Given the description of an element on the screen output the (x, y) to click on. 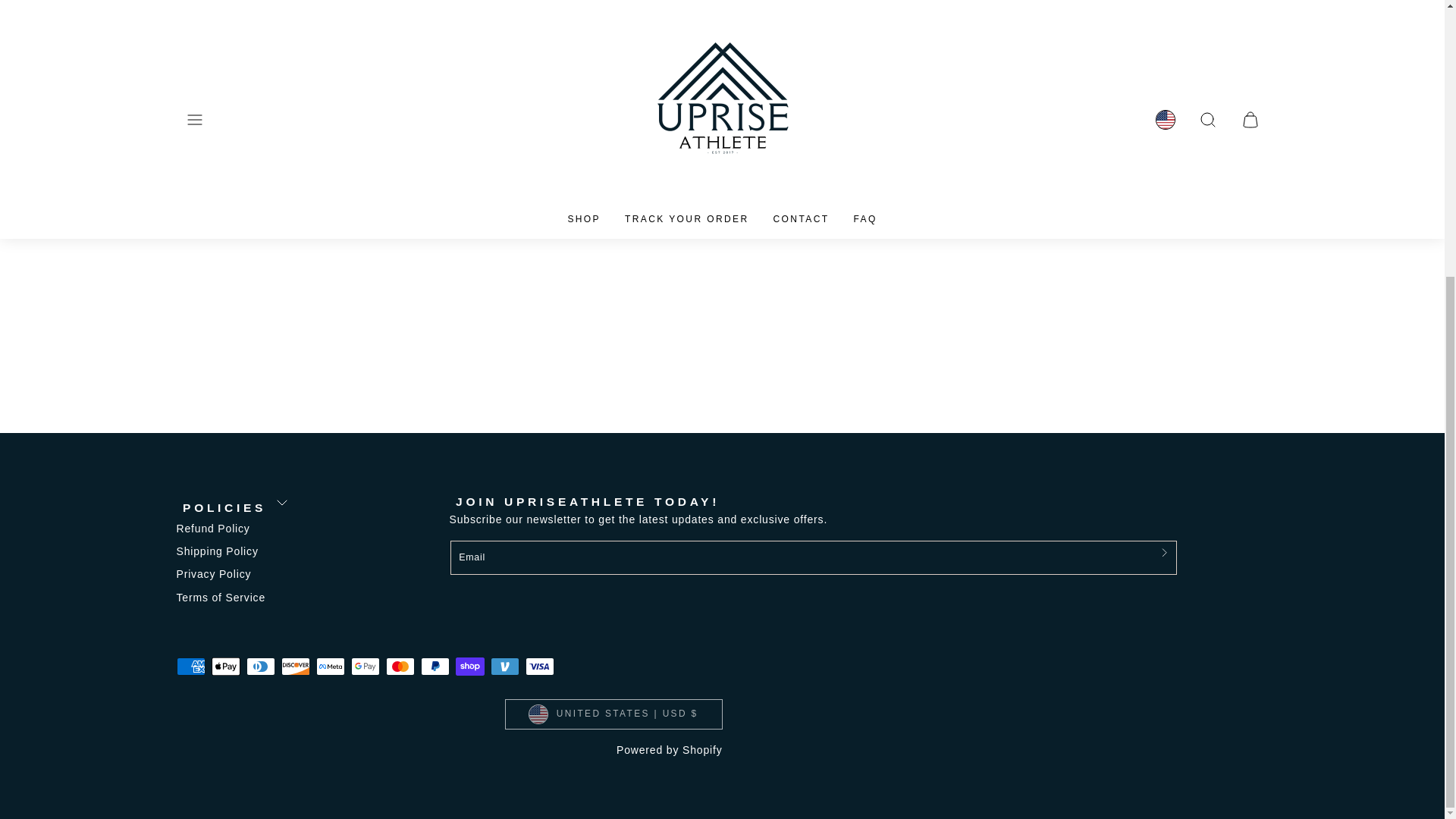
Terms of Service (220, 597)
Visa (538, 666)
Diners Club (260, 666)
American Express (190, 666)
Refund Policy (212, 527)
Google Pay (364, 666)
Discover (294, 666)
GO BACK (662, 163)
PayPal (434, 666)
Shop Pay (468, 666)
Apple Pay (225, 666)
SEARCH (784, 163)
Meta Pay (329, 666)
Mastercard (399, 666)
Venmo (503, 666)
